Given the description of an element on the screen output the (x, y) to click on. 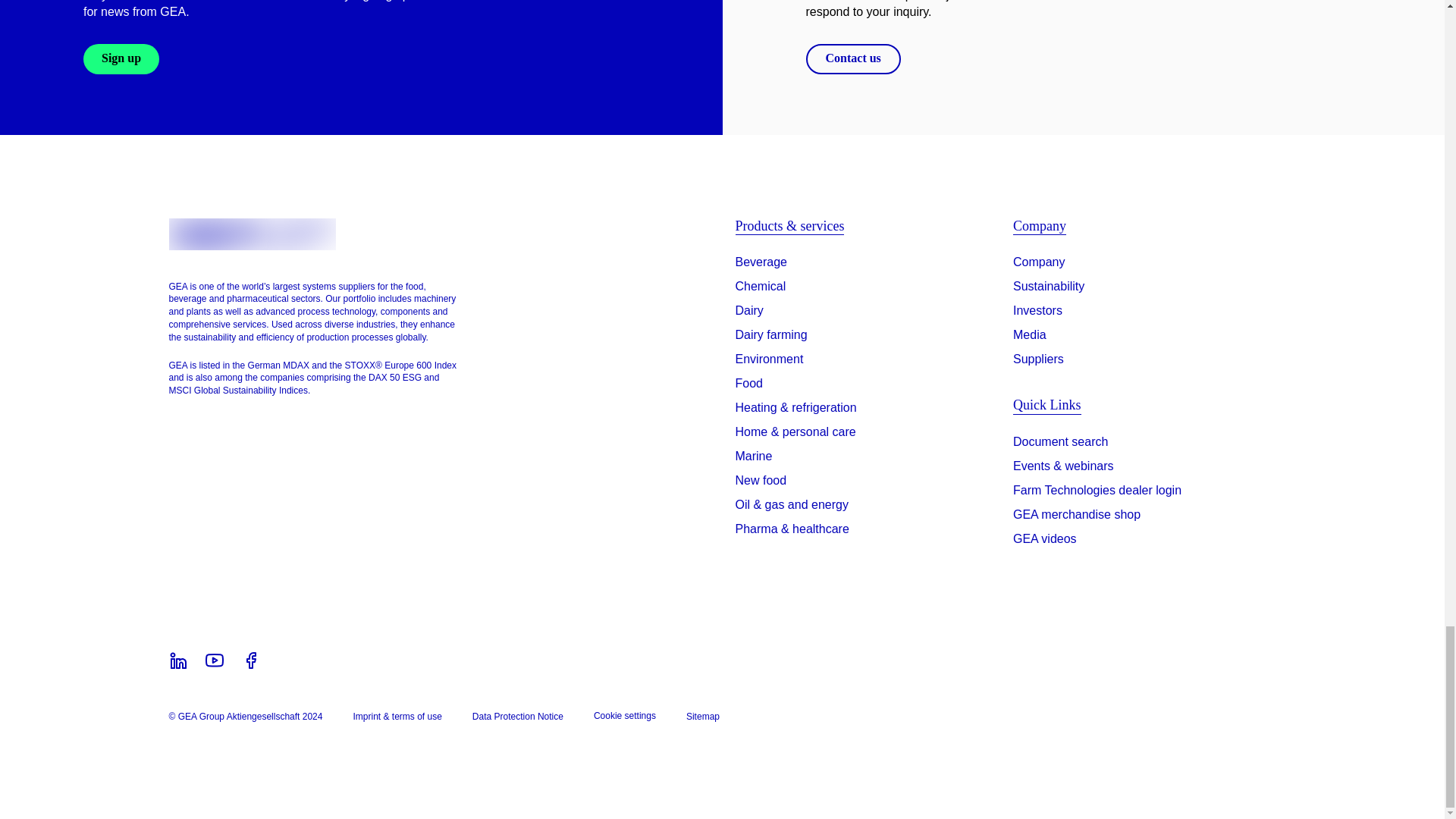
Sustainability (1048, 286)
Search (1060, 445)
Suppliers (1038, 359)
Media (1029, 334)
Investors (1037, 311)
Company (1038, 262)
